Given the description of an element on the screen output the (x, y) to click on. 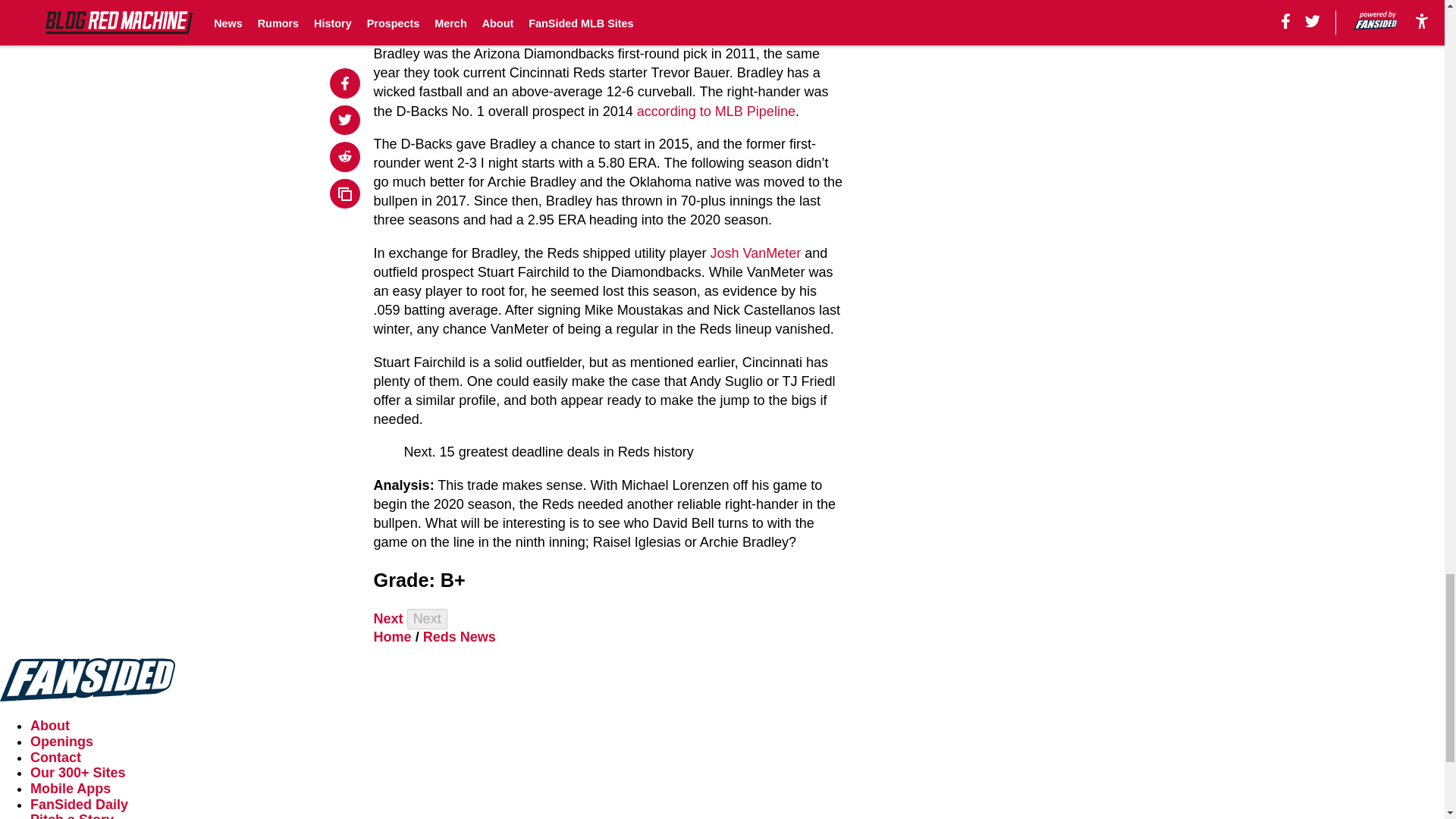
according to MLB Pipeline (715, 111)
Home (393, 636)
Next (426, 619)
Josh VanMeter (756, 253)
Next (388, 618)
